Given the description of an element on the screen output the (x, y) to click on. 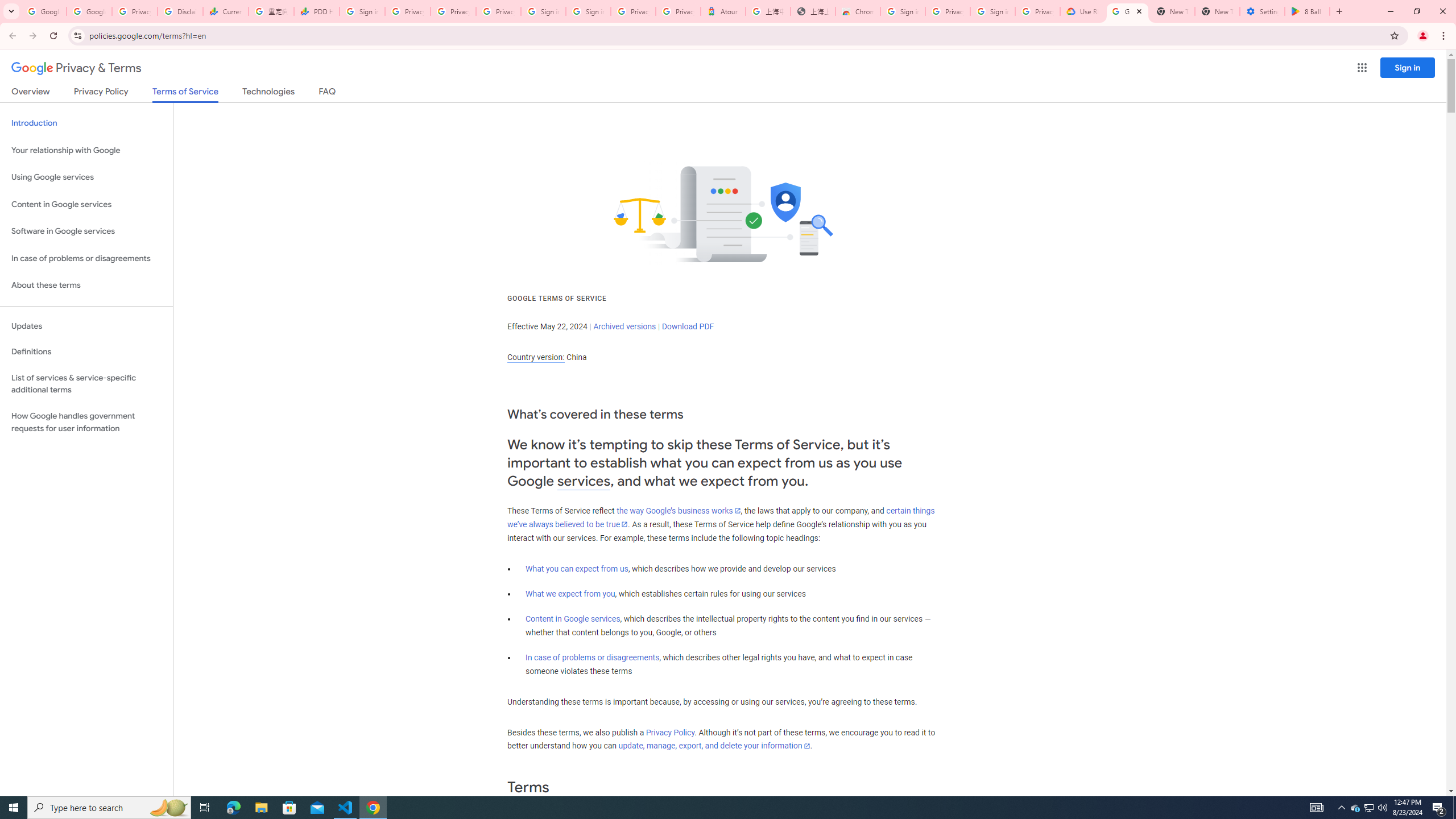
services (583, 480)
8 Ball Pool - Apps on Google Play (1307, 11)
Chrome Web Store - Color themes by Chrome (857, 11)
Sign in - Google Accounts (362, 11)
About these terms (86, 284)
Using Google services (86, 176)
